Given the description of an element on the screen output the (x, y) to click on. 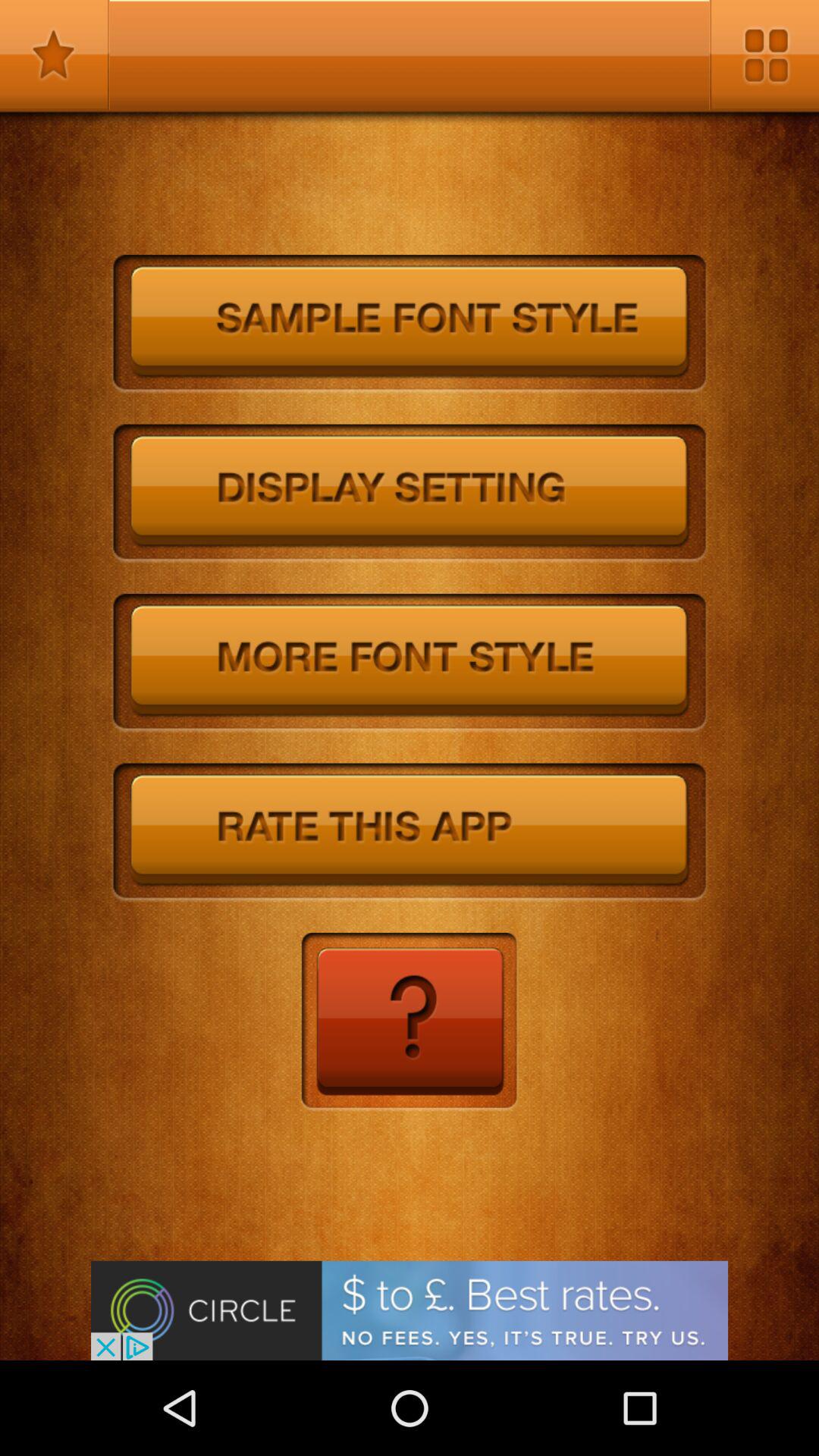
learn more information (408, 1021)
